Given the description of an element on the screen output the (x, y) to click on. 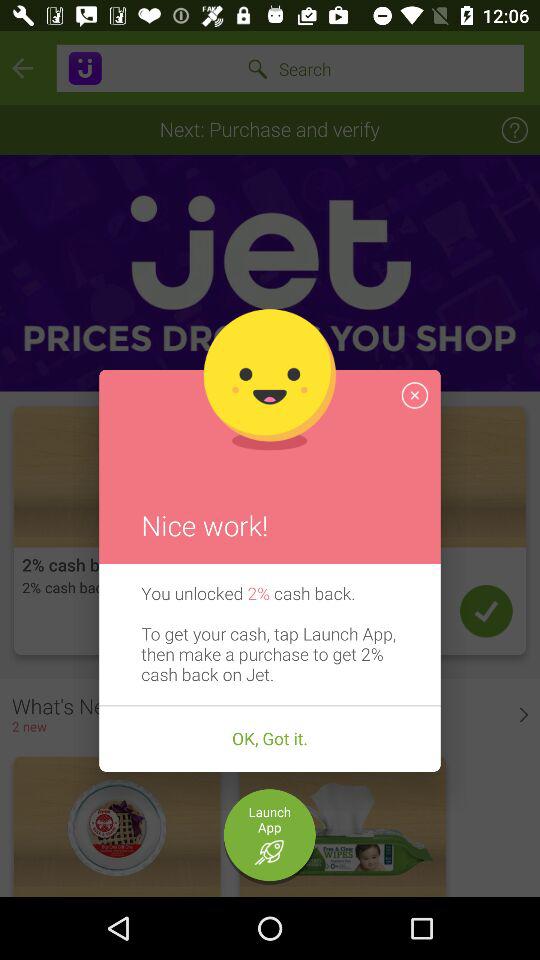
jump to the ok, got it. icon (269, 739)
